Given the description of an element on the screen output the (x, y) to click on. 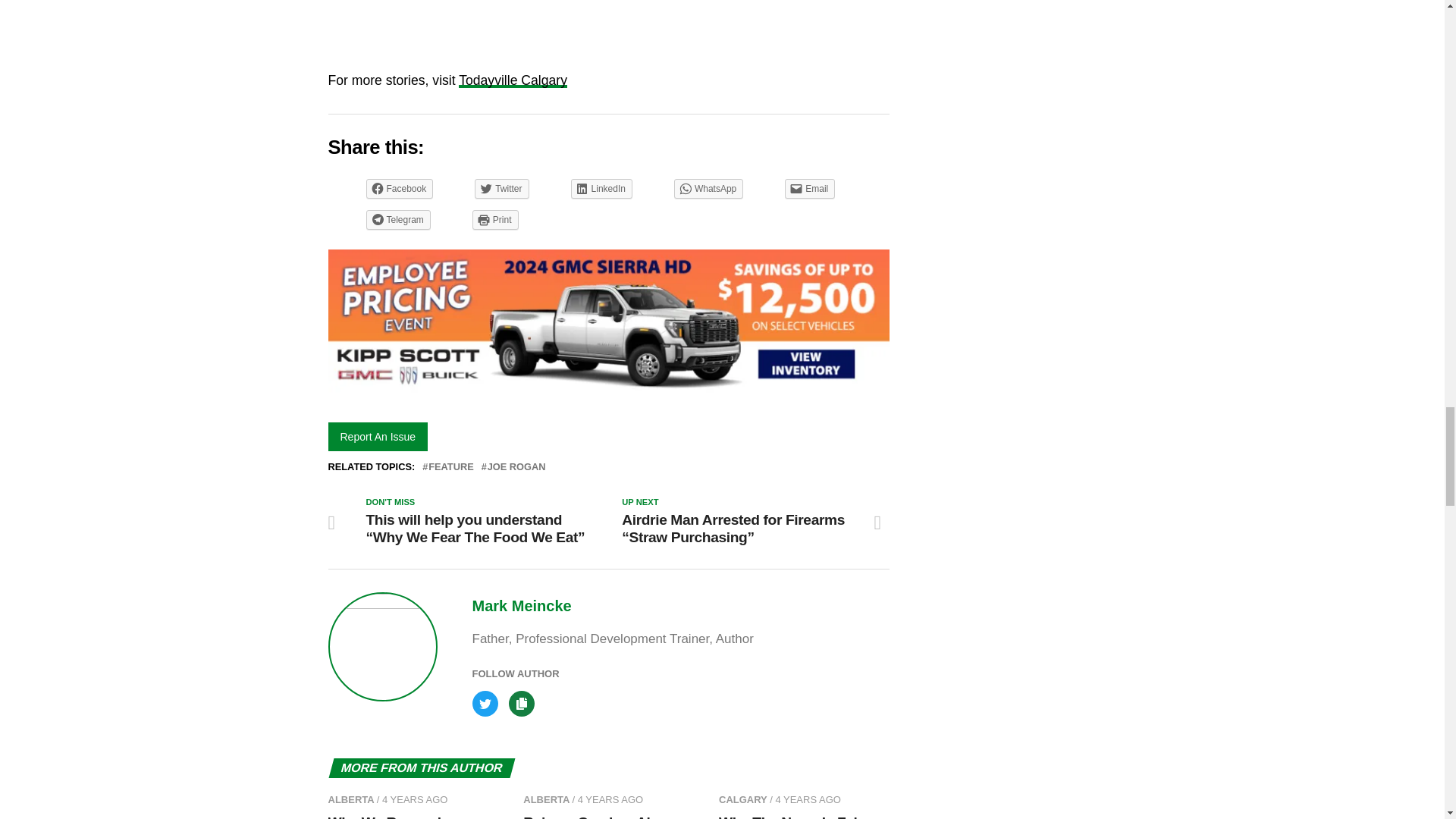
Click to share on Twitter (501, 189)
Click to share on LinkedIn (600, 189)
Click to share on WhatsApp (708, 189)
Follow author on Twitter (489, 696)
Click to share on Facebook (398, 189)
Click to print (494, 219)
Copy author page link (524, 696)
Click to email this to a friend (809, 189)
Click to share on Telegram (397, 219)
Posts by Mark Meincke (520, 605)
